Given the description of an element on the screen output the (x, y) to click on. 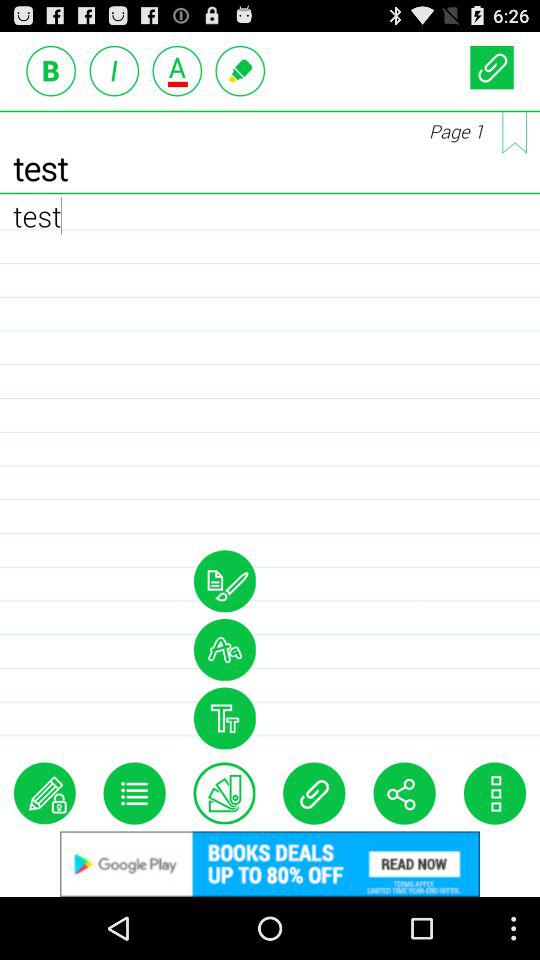
attach page button (491, 66)
